Given the description of an element on the screen output the (x, y) to click on. 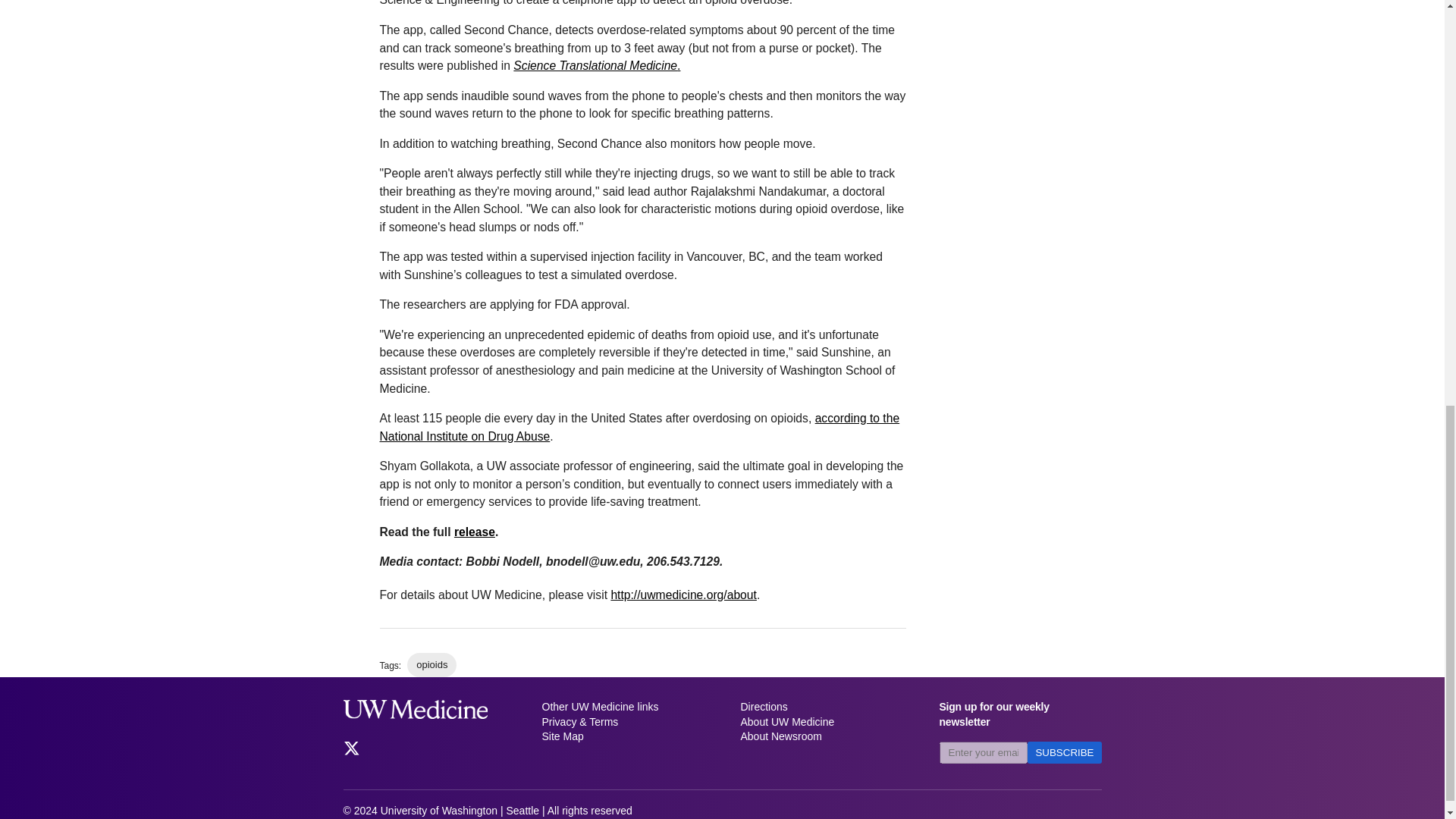
About Newsroom (820, 736)
About UW Medicine (820, 722)
Directions (820, 707)
release (474, 531)
SUBSCRIBE (1063, 752)
opioids (432, 664)
Site Map (622, 736)
Science Translational Medicine. (596, 65)
according to the National Institute on Drug Abuse (638, 427)
Other UW Medicine links (622, 707)
